Given the description of an element on the screen output the (x, y) to click on. 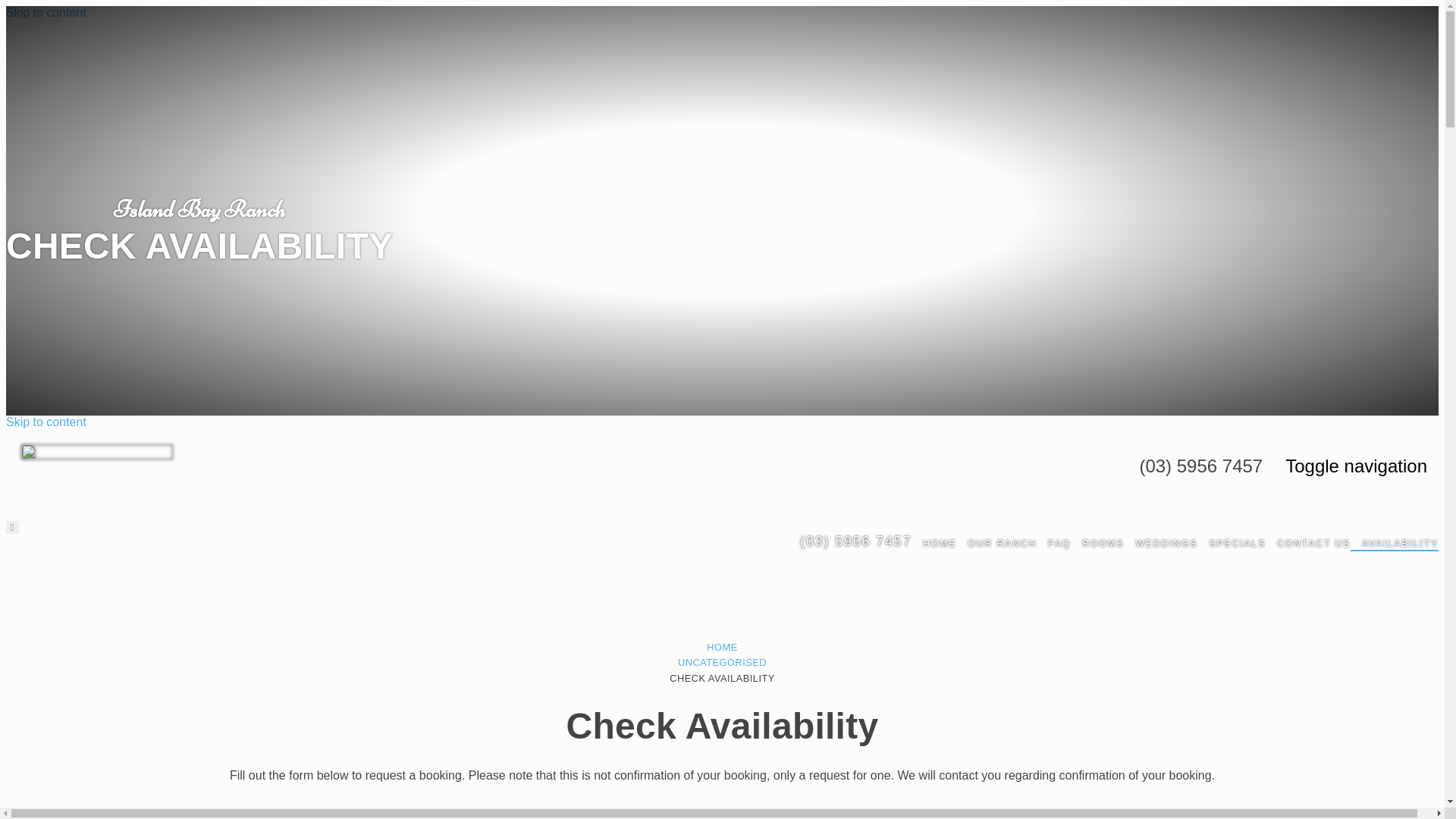
Toggle navigation Element type: text (1356, 466)
HOME Element type: text (721, 646)
HOME Element type: text (933, 550)
FAQ Element type: text (1053, 550)
UNCATEGORISED Element type: text (721, 662)
OUR RANCH Element type: text (996, 550)
WEDDINGS Element type: text (1160, 550)
Skip to content Element type: text (46, 421)
AVAILABILITY Element type: text (1394, 550)
Skip to content Element type: text (46, 12)
(03) 5956 7457 Element type: text (849, 550)
ROOMS Element type: text (1096, 550)
CONTACT US Element type: text (1307, 550)
SPECIALS Element type: text (1231, 550)
